Given the description of an element on the screen output the (x, y) to click on. 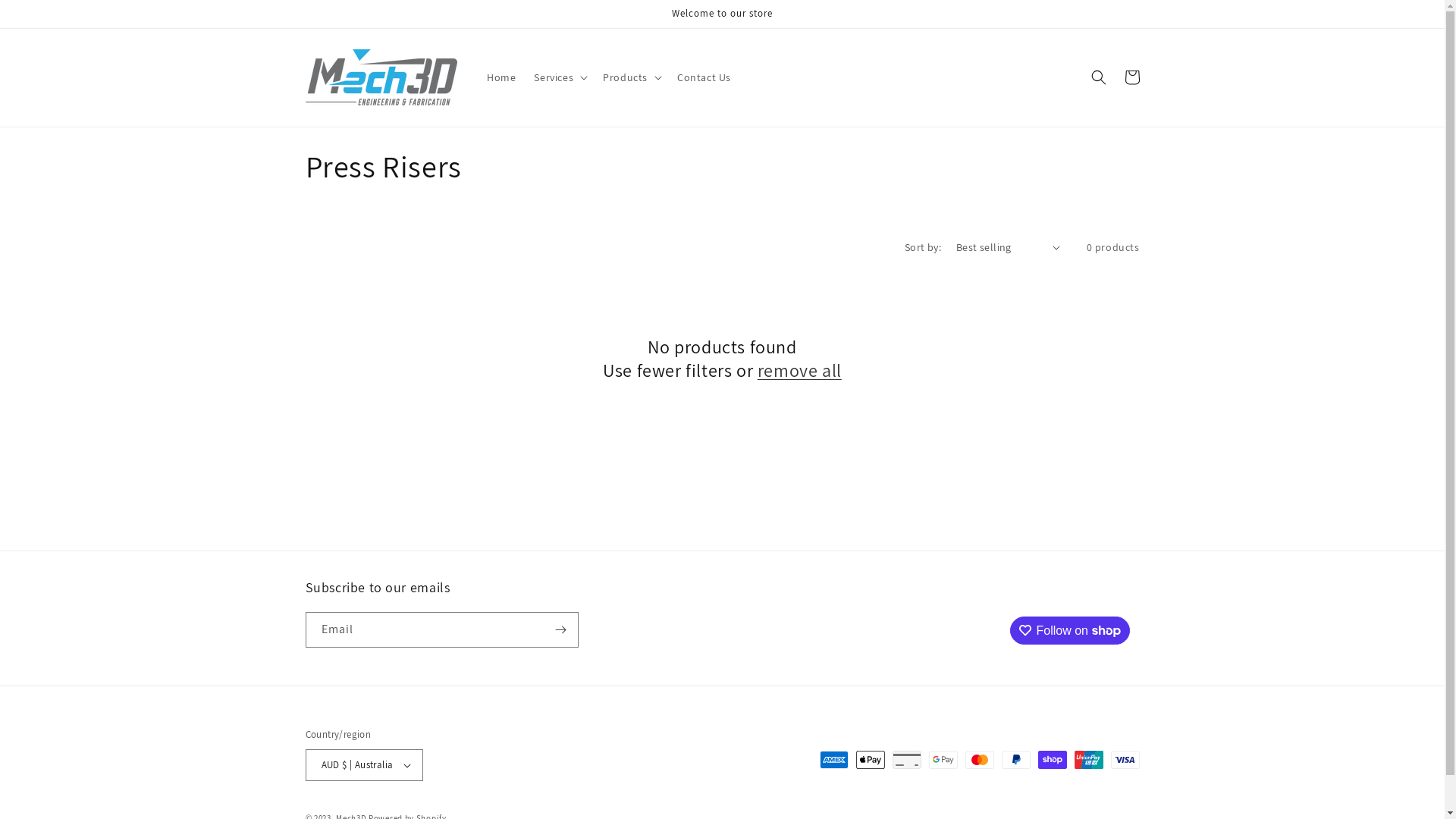
Cart Element type: text (1131, 77)
Home Element type: text (500, 77)
AUD $ | Australia Element type: text (363, 765)
remove all Element type: text (799, 370)
Contact Us Element type: text (704, 77)
